Given the description of an element on the screen output the (x, y) to click on. 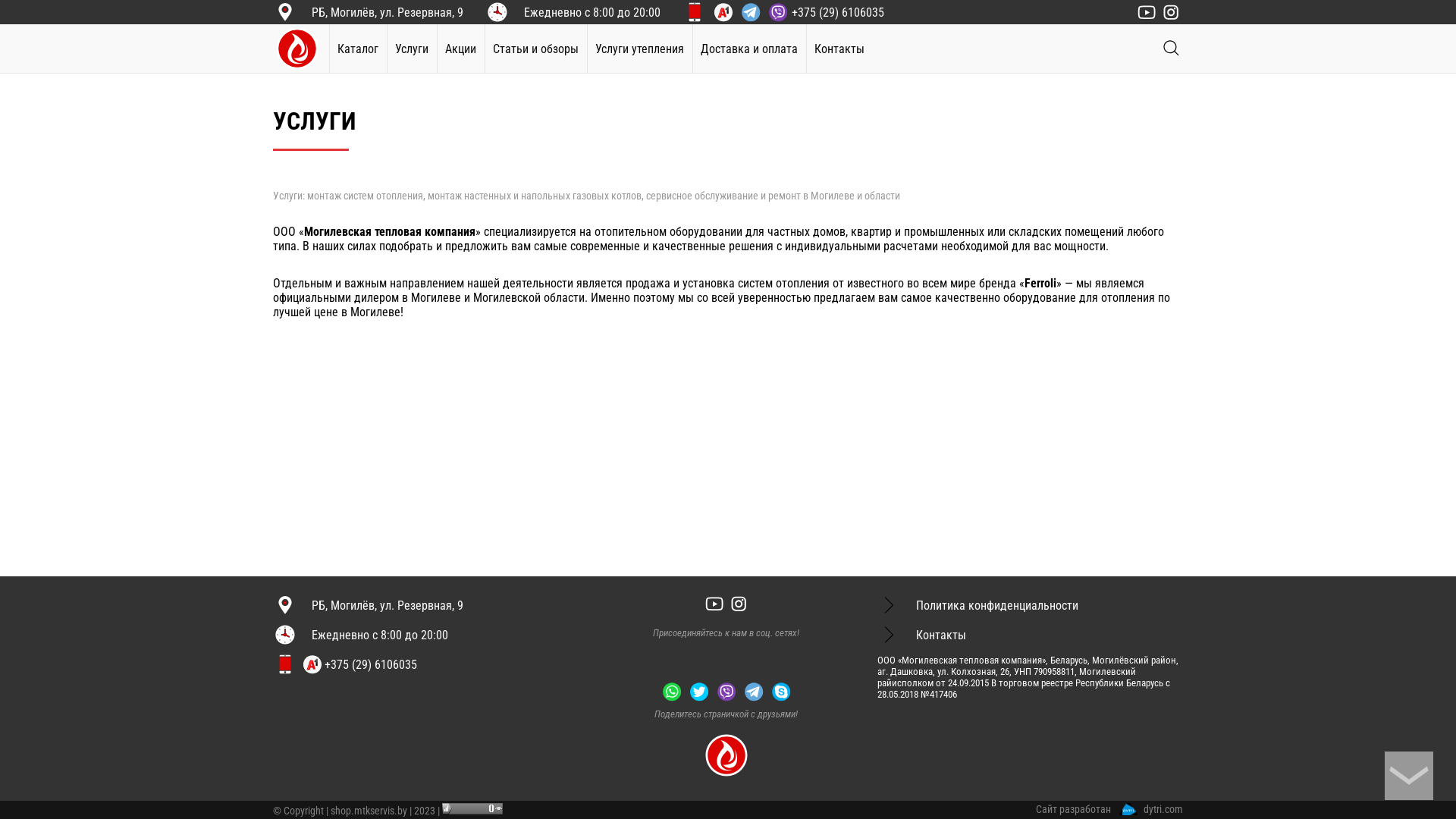
Telegram Element type: hover (753, 691)
WhatsApp Element type: hover (671, 691)
+375 (29) 6106035 Element type: text (796, 10)
Viber Element type: hover (726, 691)
+375 (29) 6106035 Element type: text (358, 664)
dytri.com Element type: text (1151, 809)
Twitter Element type: hover (699, 691)
Skype Element type: hover (780, 691)
